Given the description of an element on the screen output the (x, y) to click on. 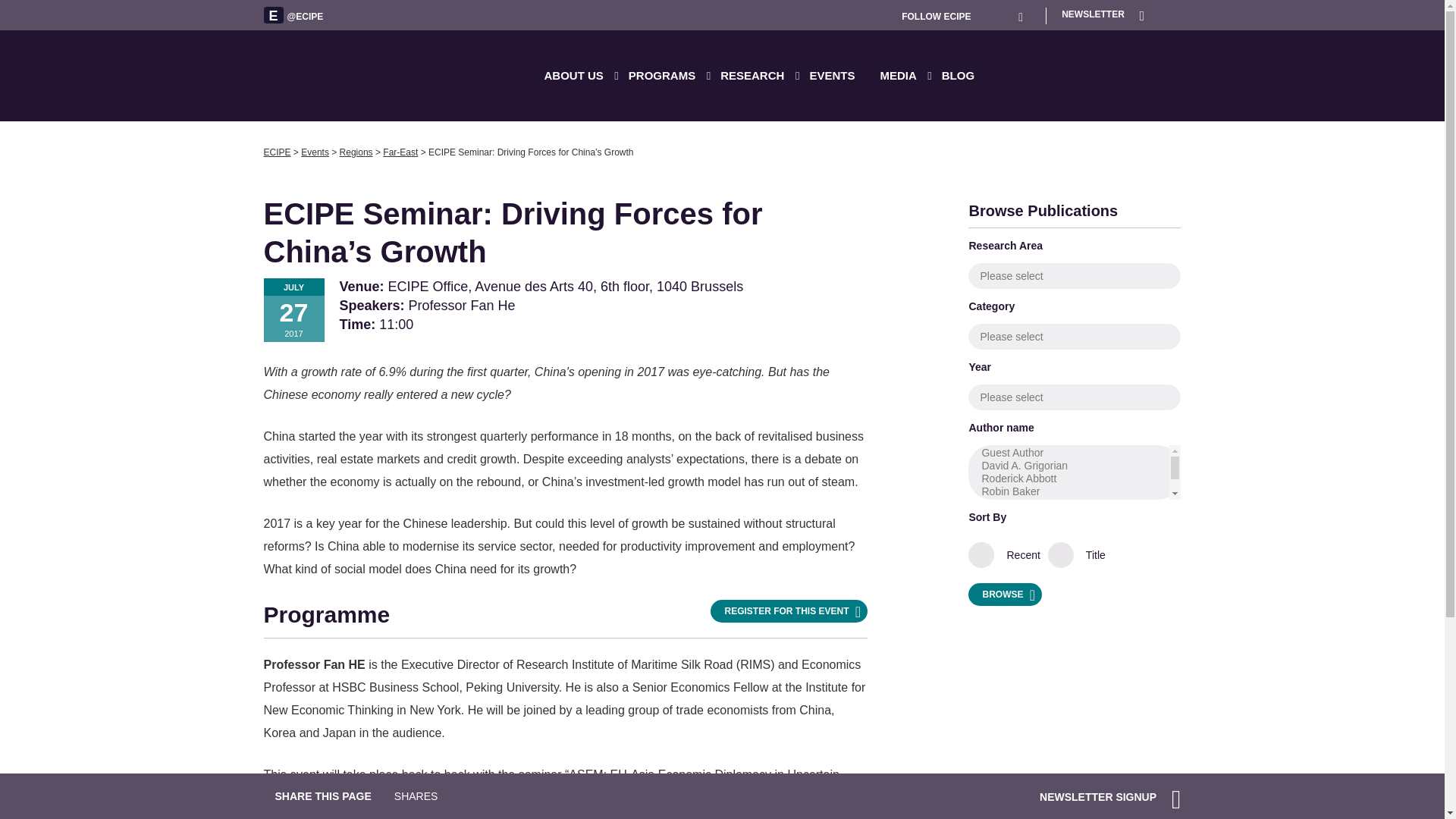
recent (989, 557)
Go to Events. (315, 152)
Go to the Regions Category archives. (355, 152)
Go to ECIPE. (277, 152)
NEWSLETTER (1102, 13)
Go to the Far-East Category archives. (399, 152)
title (1061, 557)
PROGRAMS (669, 75)
